Given the description of an element on the screen output the (x, y) to click on. 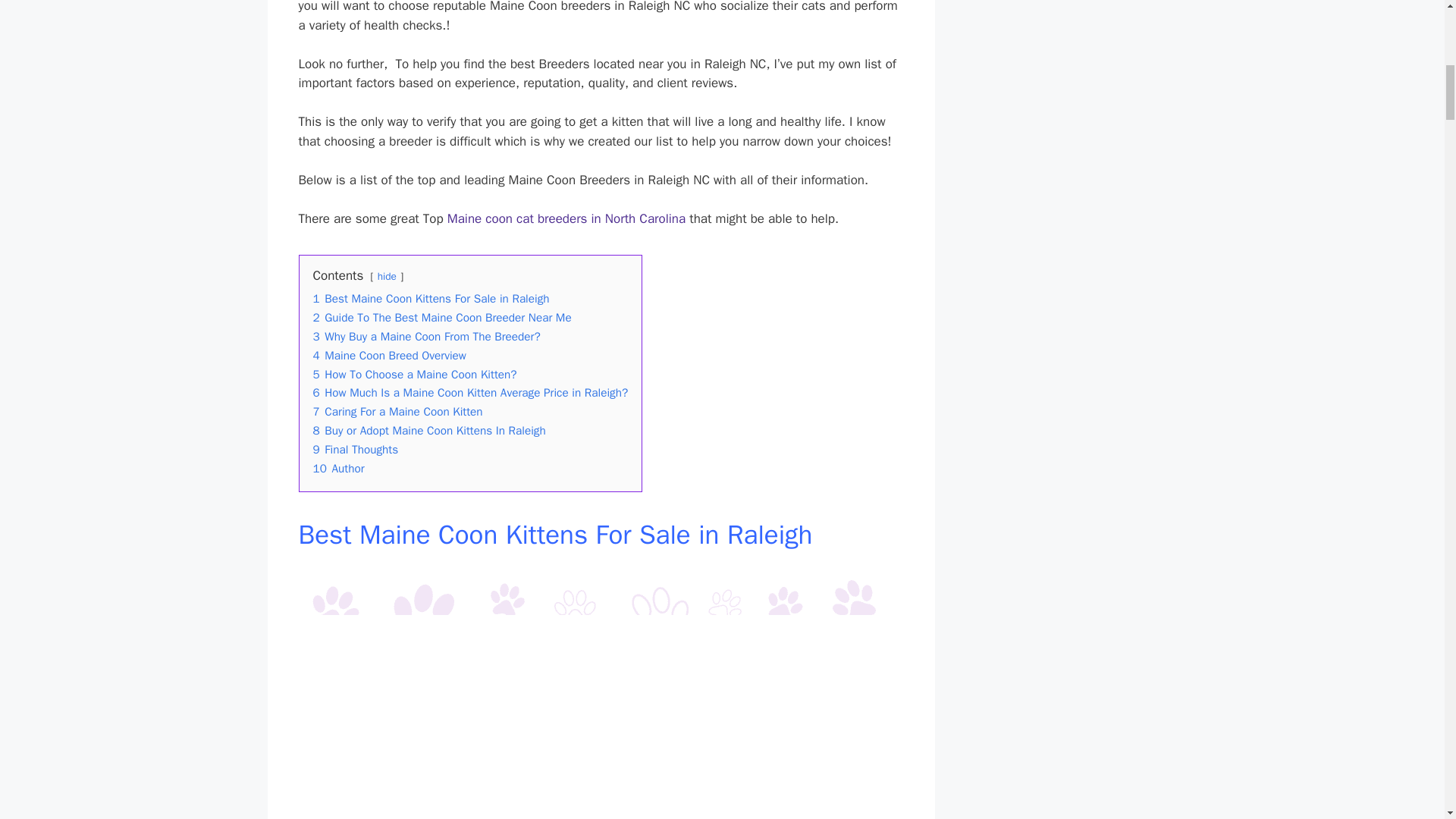
7 Caring For a Maine Coon Kitten (397, 411)
1 Best Maine Coon Kittens For Sale in Raleigh (430, 298)
10 Author (338, 468)
5 How To Choose a Maine Coon Kitten? (414, 374)
Maine coon cat breeders in North Carolina (565, 218)
6 How Much Is a Maine Coon Kitten Average Price in Raleigh? (470, 392)
hide (386, 276)
9 Final Thoughts (355, 449)
4 Maine Coon Breed Overview (389, 355)
3 Why Buy a Maine Coon From The Breeder? (426, 336)
2 Guide To The Best Maine Coon Breeder Near Me (441, 317)
8 Buy or Adopt Maine Coon Kittens In Raleigh (428, 430)
